Given the description of an element on the screen output the (x, y) to click on. 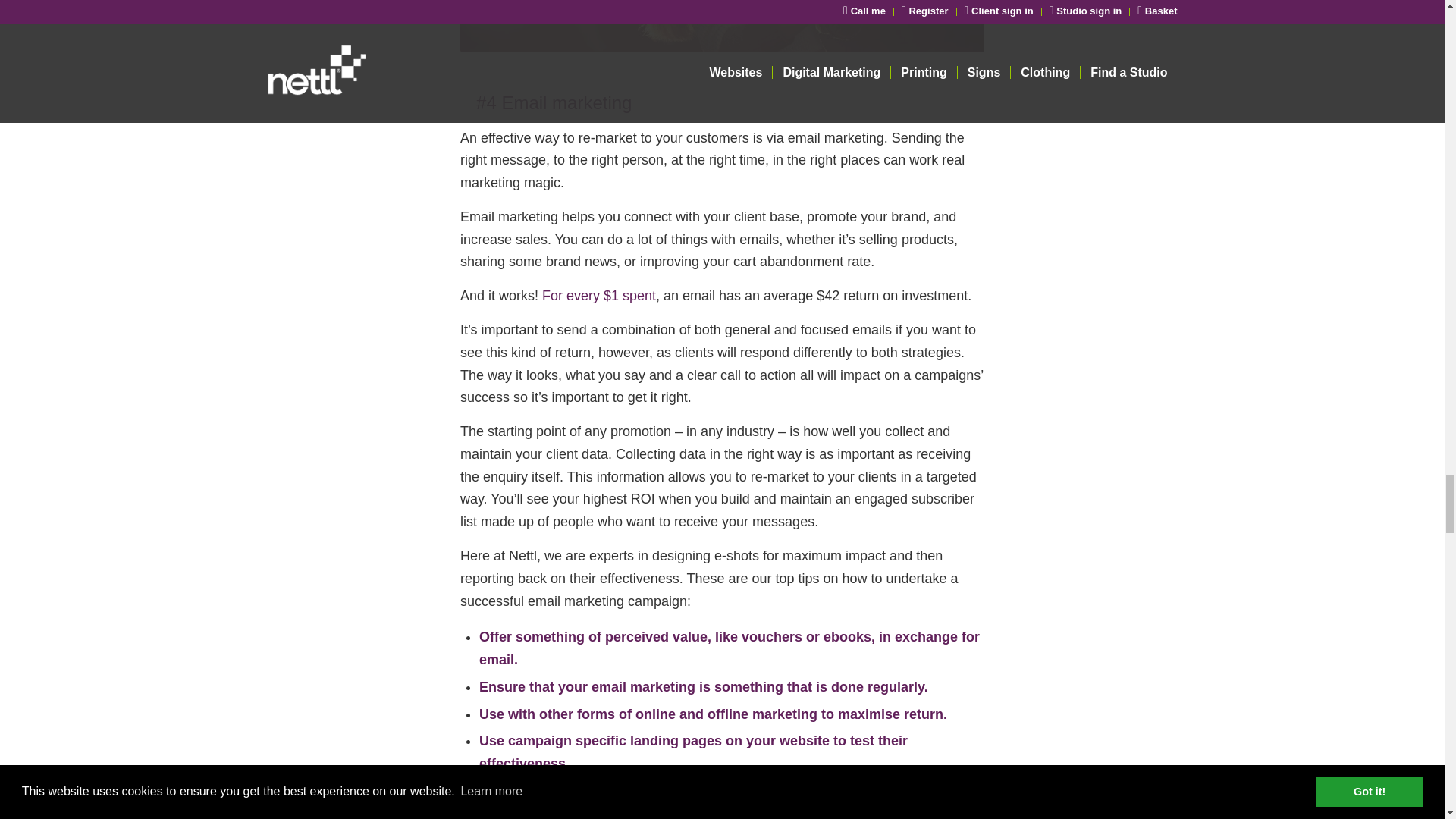
ipad (722, 26)
